Given the description of an element on the screen output the (x, y) to click on. 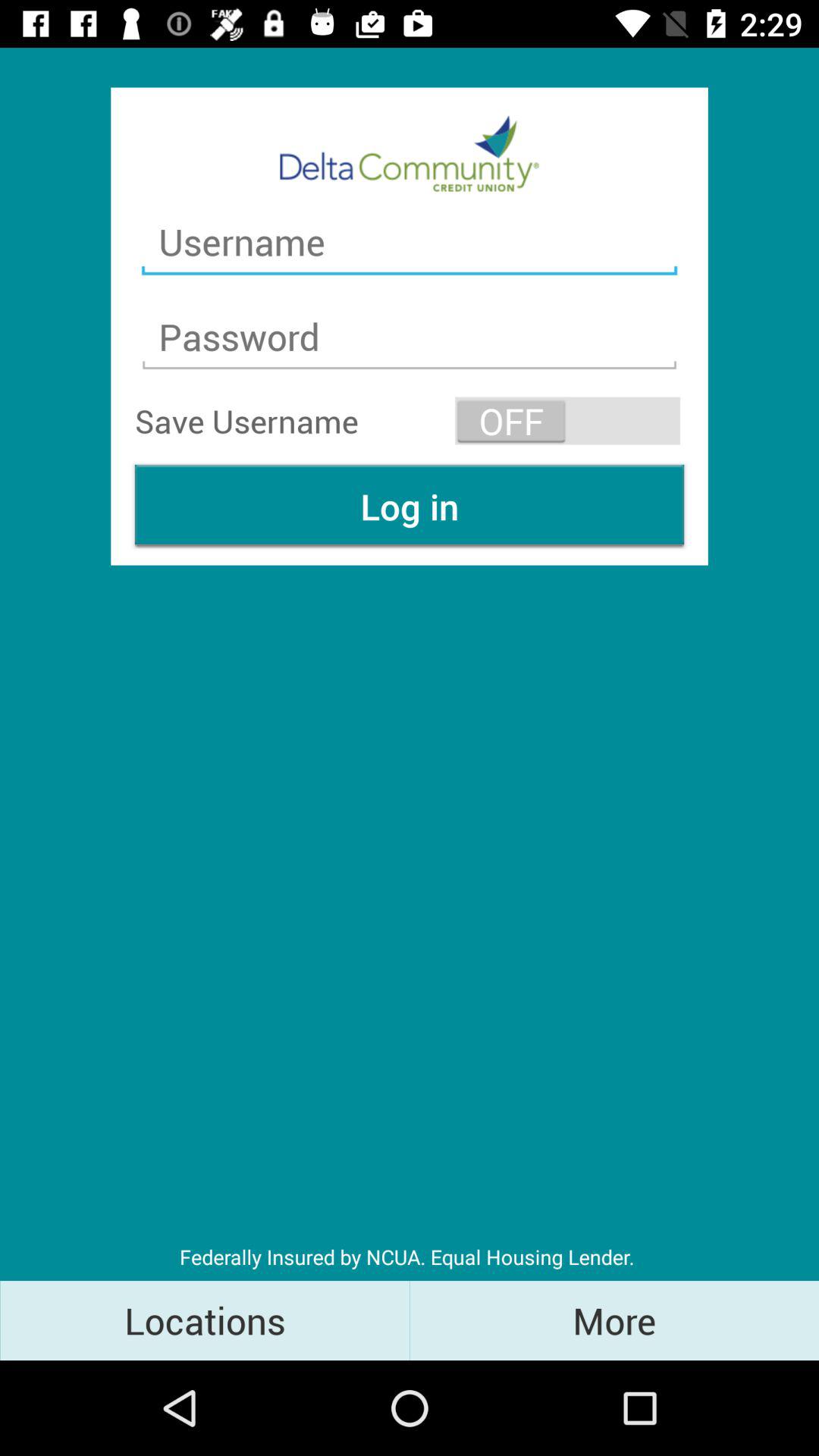
choose the item to the right of save username item (567, 420)
